Given the description of an element on the screen output the (x, y) to click on. 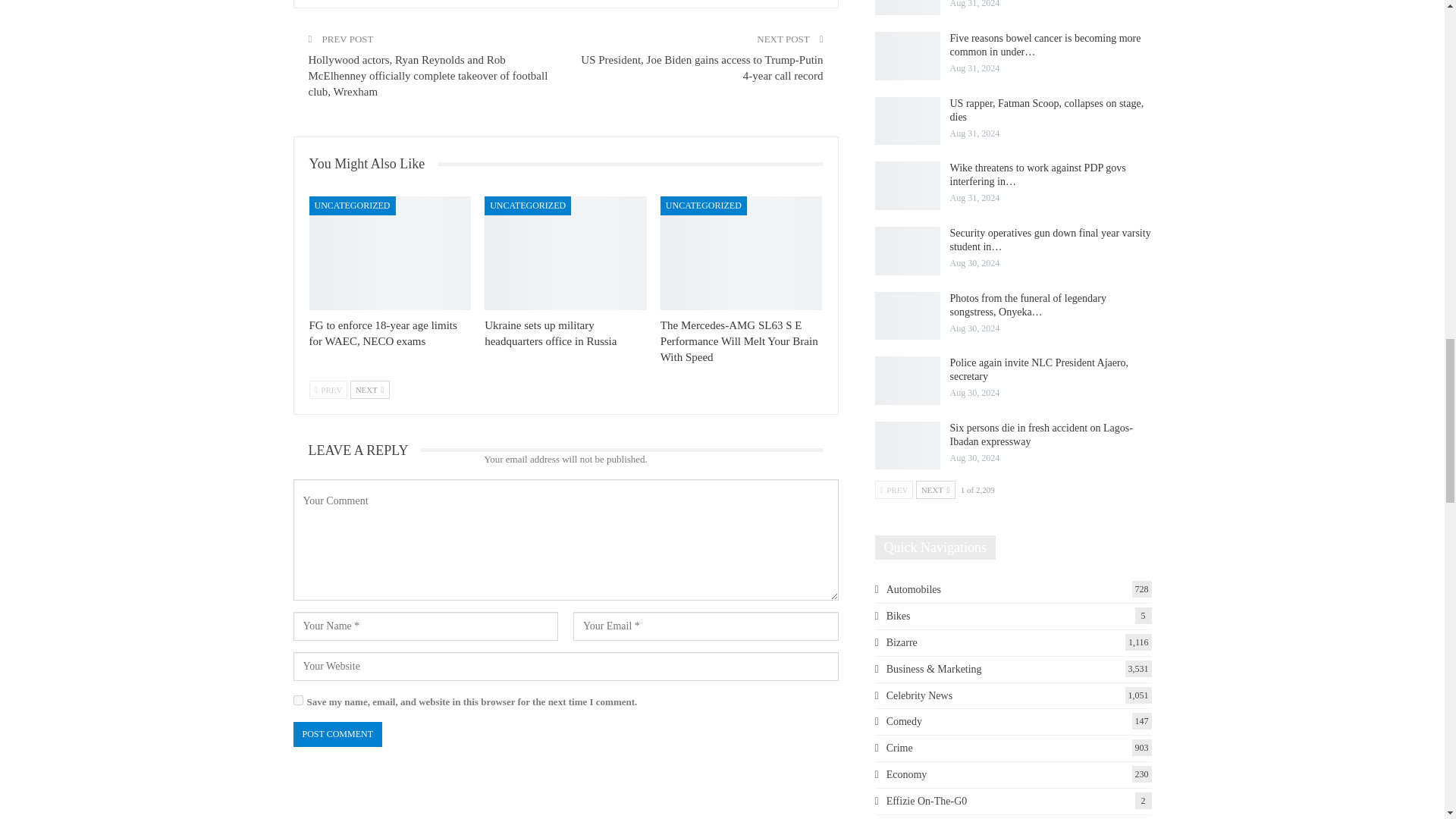
Previous (327, 389)
yes (297, 700)
Post Comment (336, 733)
FG to enforce 18-year age limits for WAEC, NECO exams (389, 253)
Next (370, 389)
Ukraine sets up military headquarters office in Russia (565, 253)
FG to enforce 18-year age limits for WAEC, NECO exams (382, 333)
Ukraine sets up military headquarters office in Russia (549, 333)
